Given the description of an element on the screen output the (x, y) to click on. 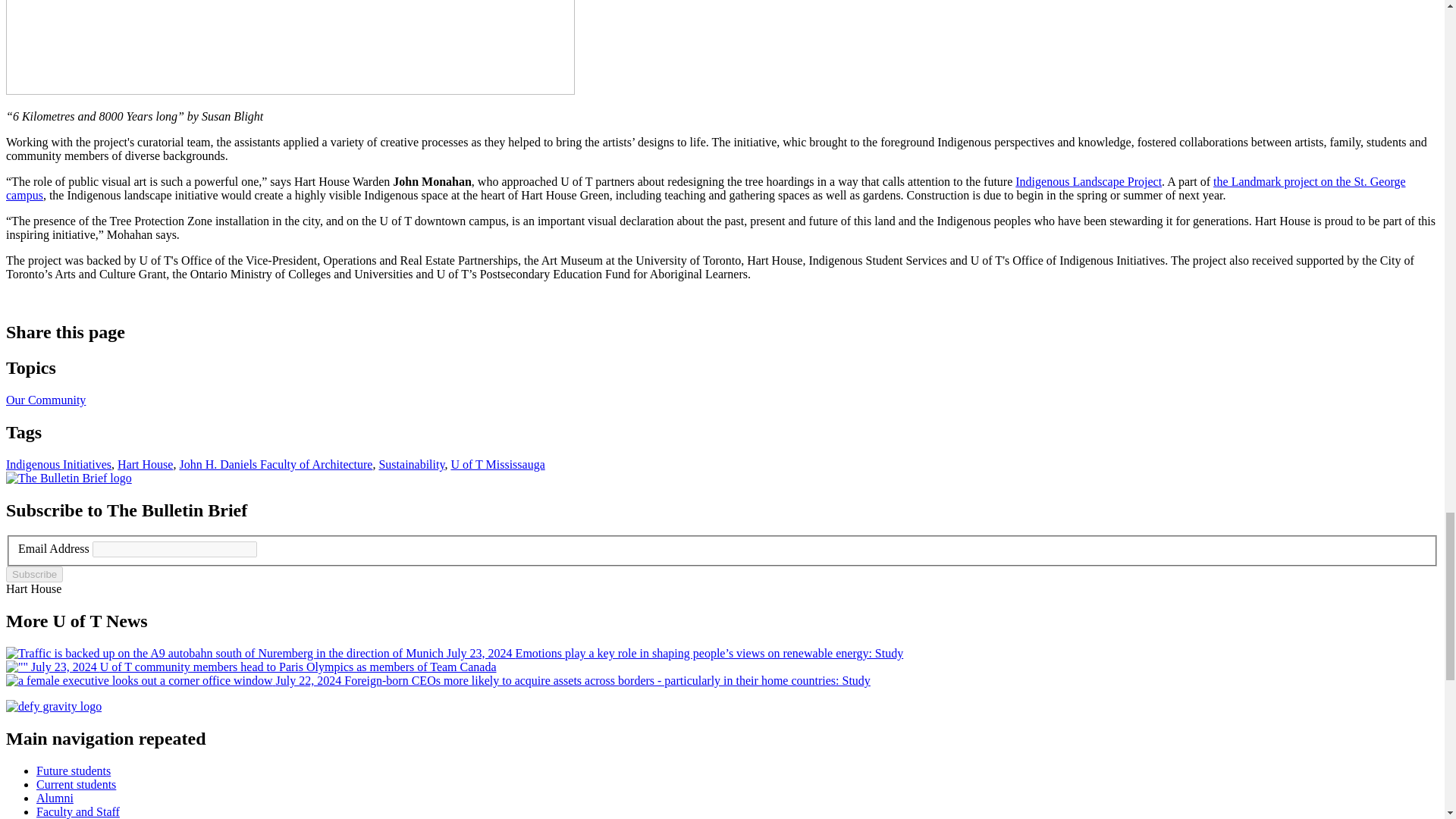
Defy gravity (53, 706)
